Given the description of an element on the screen output the (x, y) to click on. 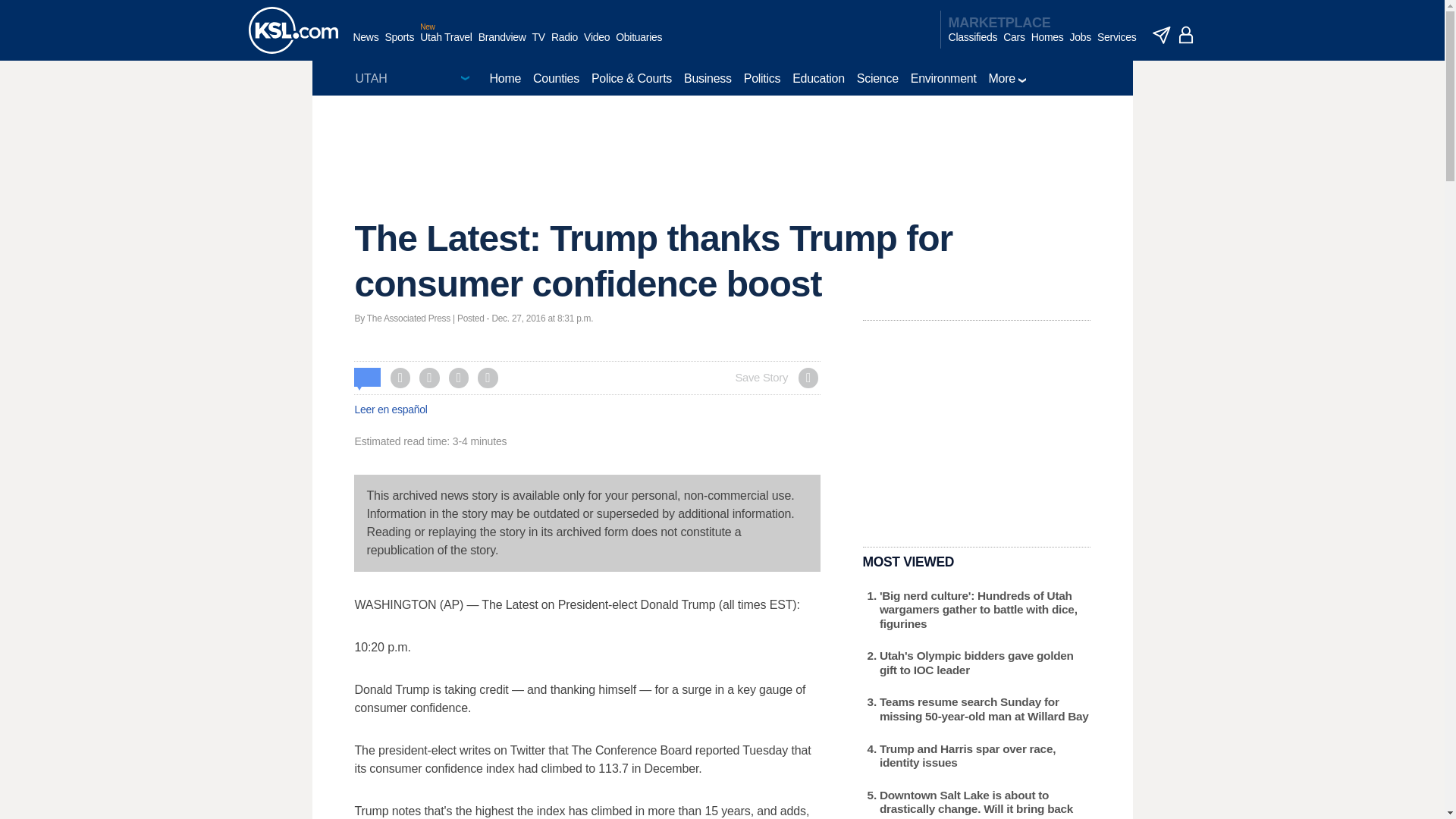
Utah Travel (445, 45)
Sports (398, 45)
account - logged out (1185, 34)
Brandview (502, 45)
KSL homepage (292, 30)
KSL homepage (292, 29)
